Given the description of an element on the screen output the (x, y) to click on. 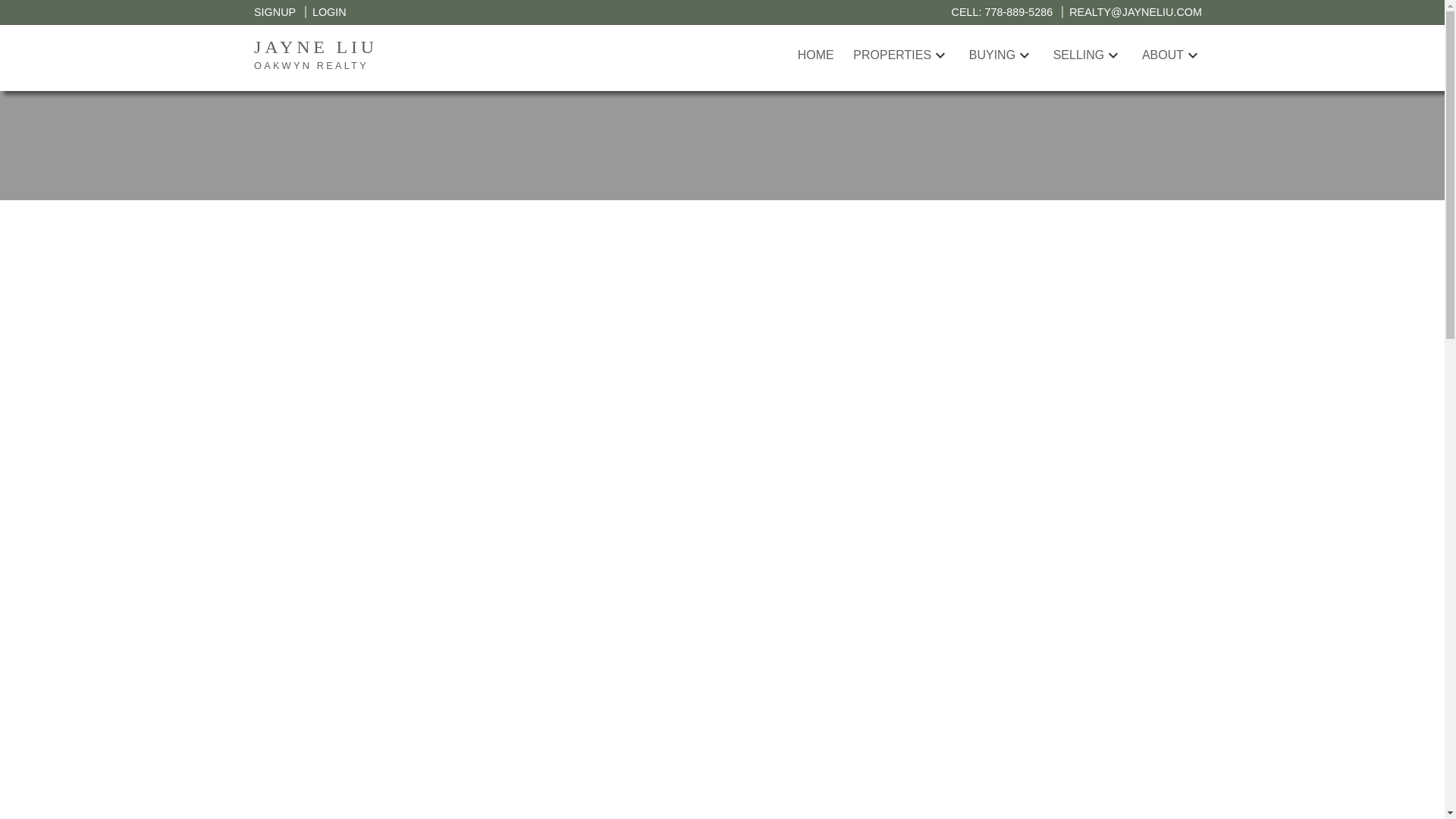
SIGNUP (274, 11)
LOGIN (420, 55)
HOME (325, 11)
CELL: 778-889-5286 (815, 55)
